Given the description of an element on the screen output the (x, y) to click on. 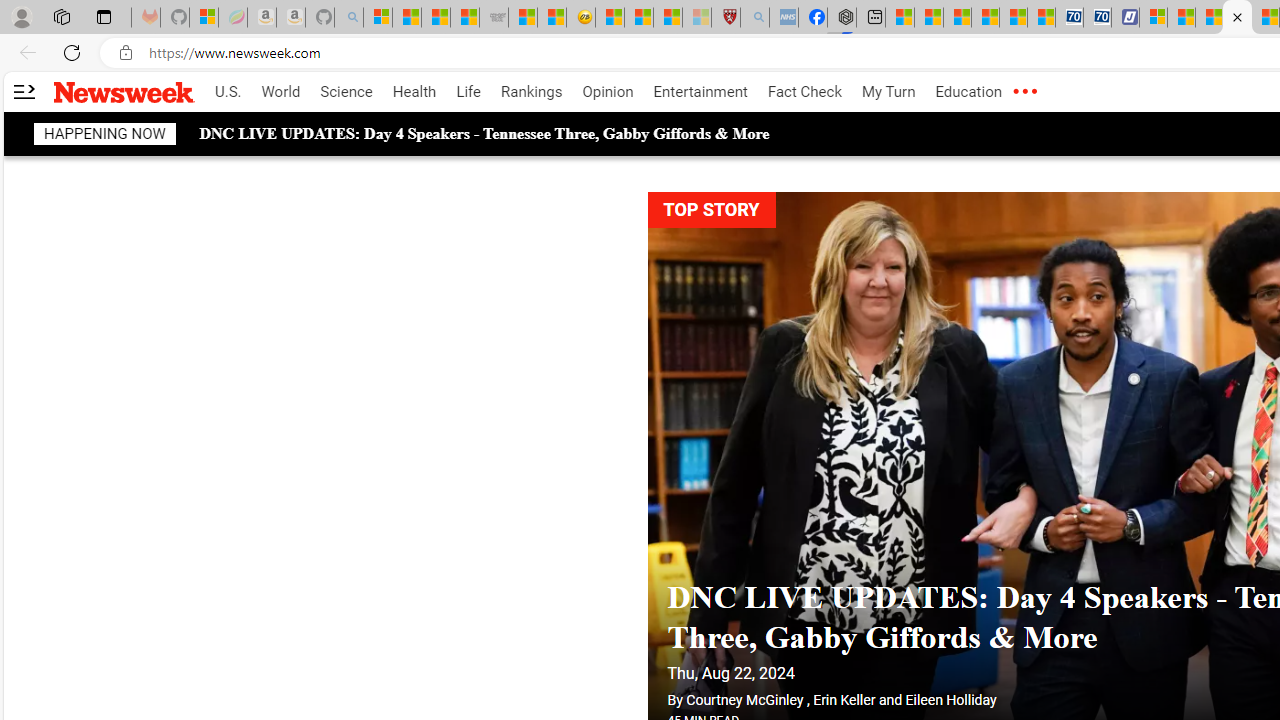
Nordace - Nordace Siena Is Not An Ordinary Backpack (842, 17)
Stocks - MSN (464, 17)
Combat Siege (494, 17)
Education (968, 92)
Class: the-red (1023, 92)
NCL Adult Asthma Inhaler Choice Guideline - Sleeping (783, 17)
list of asthma inhalers uk - Search - Sleeping (755, 17)
